Given the description of an element on the screen output the (x, y) to click on. 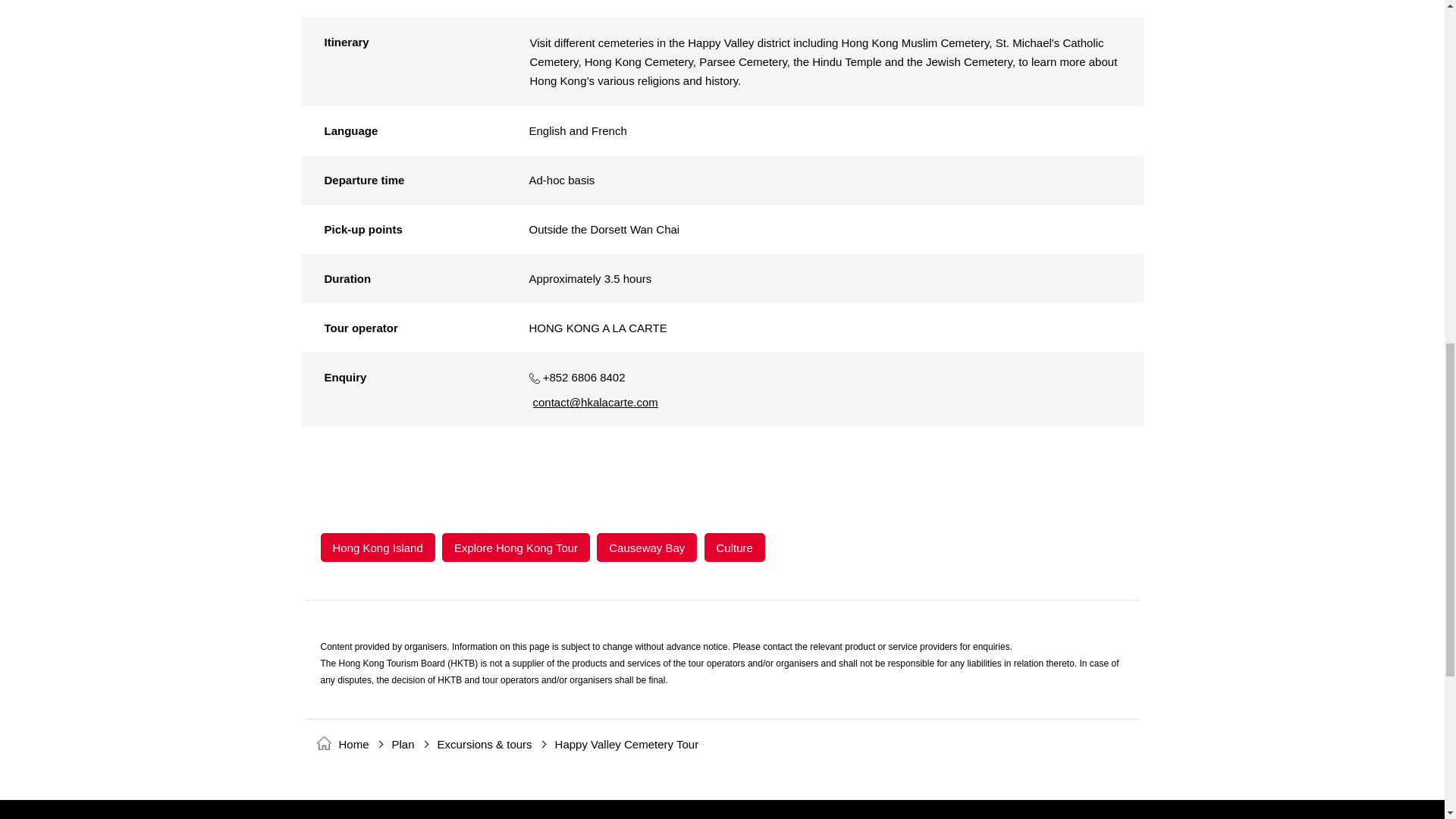
phone-handset (534, 378)
